Given the description of an element on the screen output the (x, y) to click on. 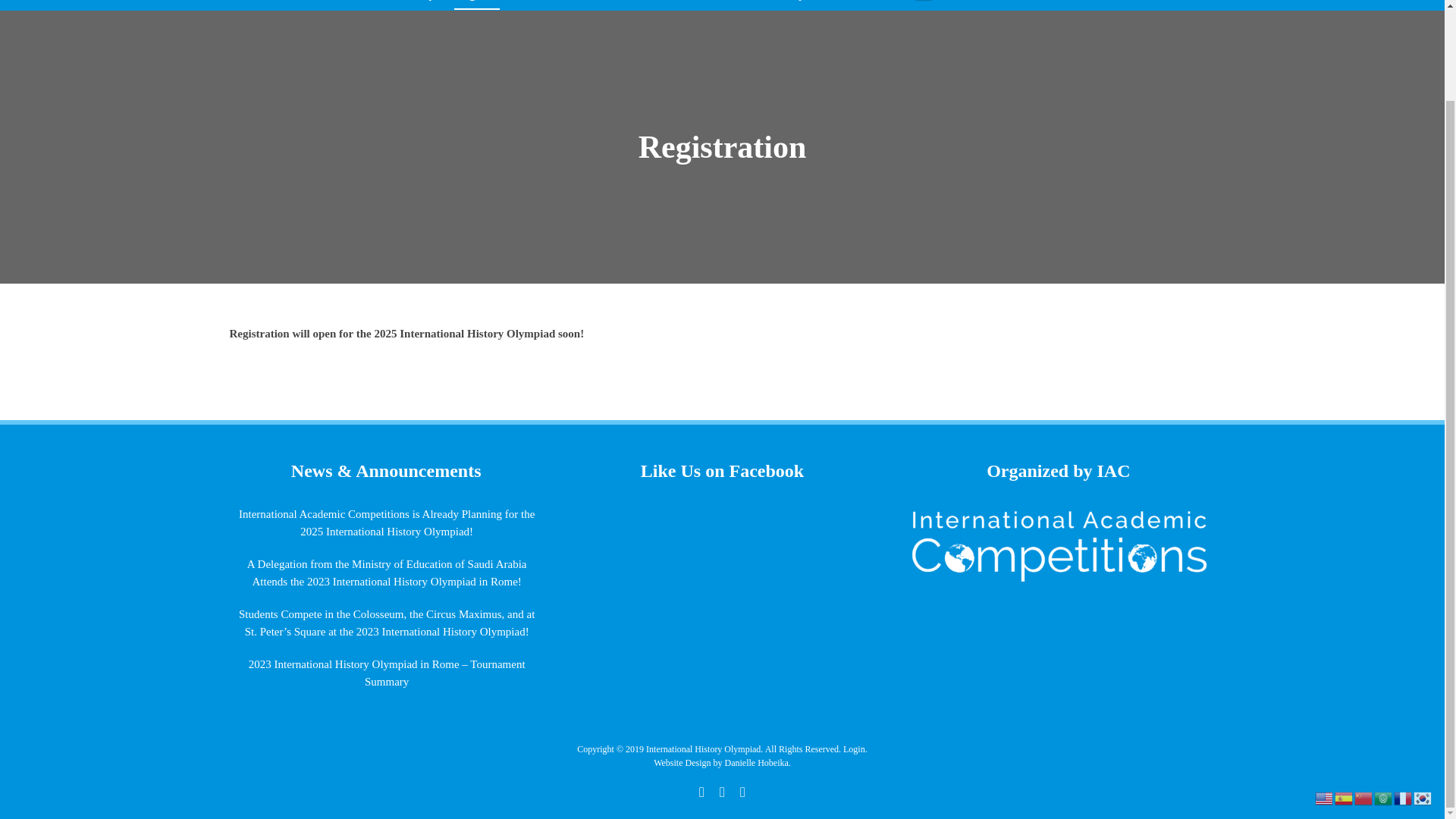
Register (476, 5)
Results (301, 5)
Qualify (414, 5)
IAC (835, 5)
English (924, 5)
Home (245, 5)
About (357, 5)
